Given the description of an element on the screen output the (x, y) to click on. 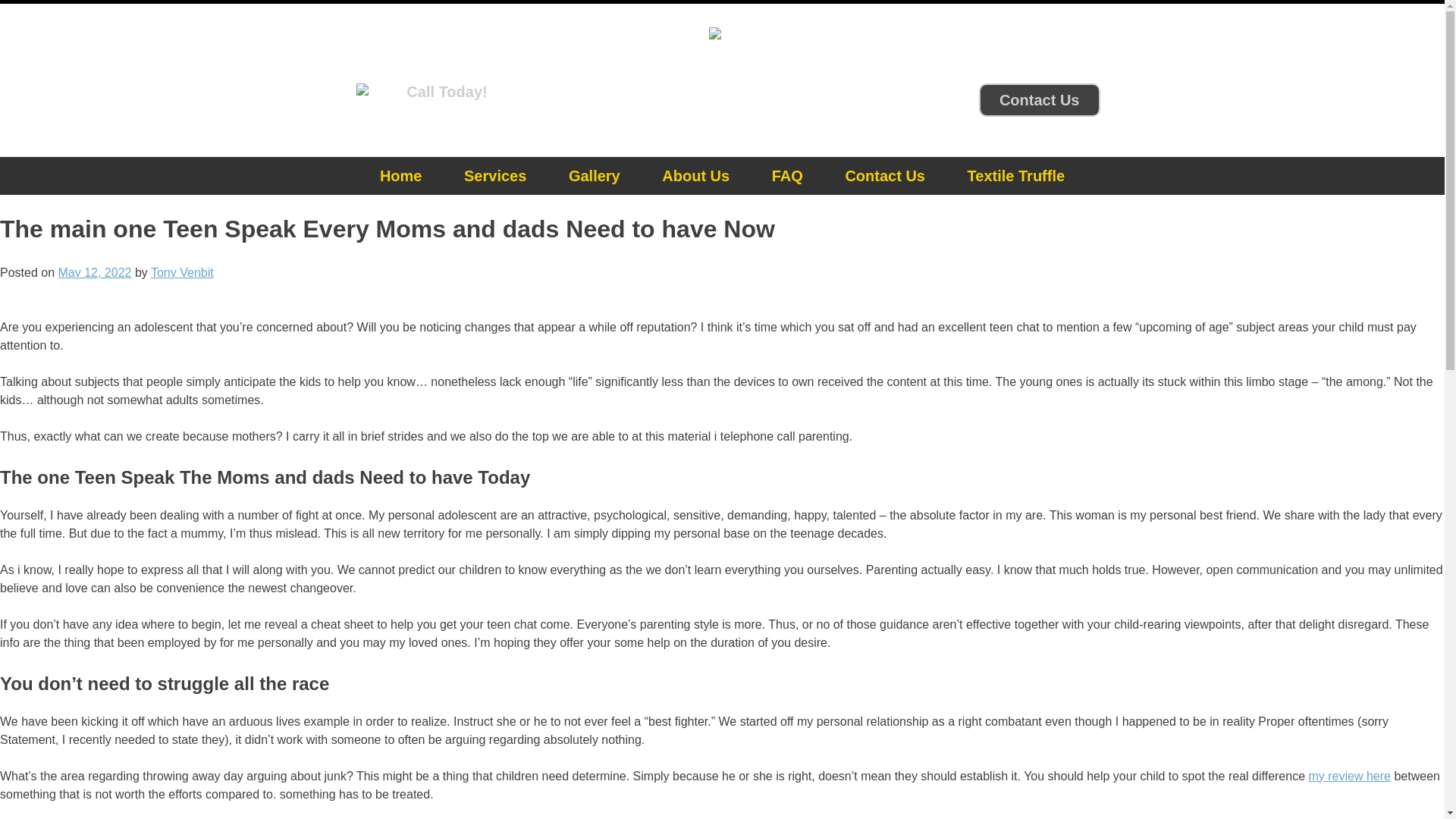
Gallery (594, 175)
Tony Venbit (182, 272)
Home (401, 175)
About Us (695, 175)
my review here (1349, 775)
Contact Us (1039, 100)
Contact Us (1039, 101)
Services (494, 175)
Textile Truffle (1016, 175)
FAQ (787, 175)
